Given the description of an element on the screen output the (x, y) to click on. 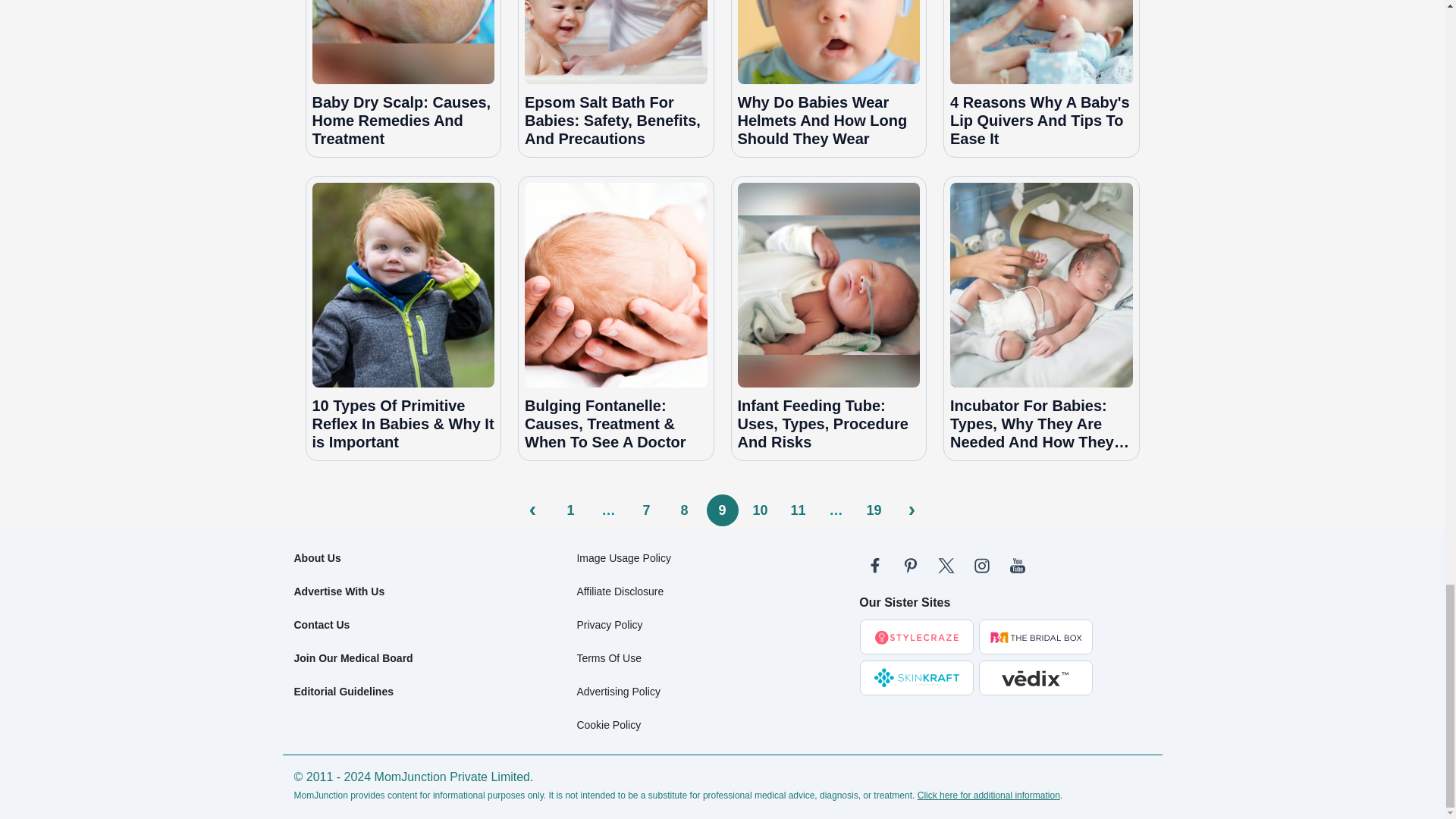
4 Reasons Why A Baby's Lip Quivers And Tips To Ease It (1041, 42)
Why Do Babies Wear Helmets And How Long Should They Wear (828, 42)
Infant Feeding Tube: Uses, Types, Procedure And Risks (828, 285)
